Given the description of an element on the screen output the (x, y) to click on. 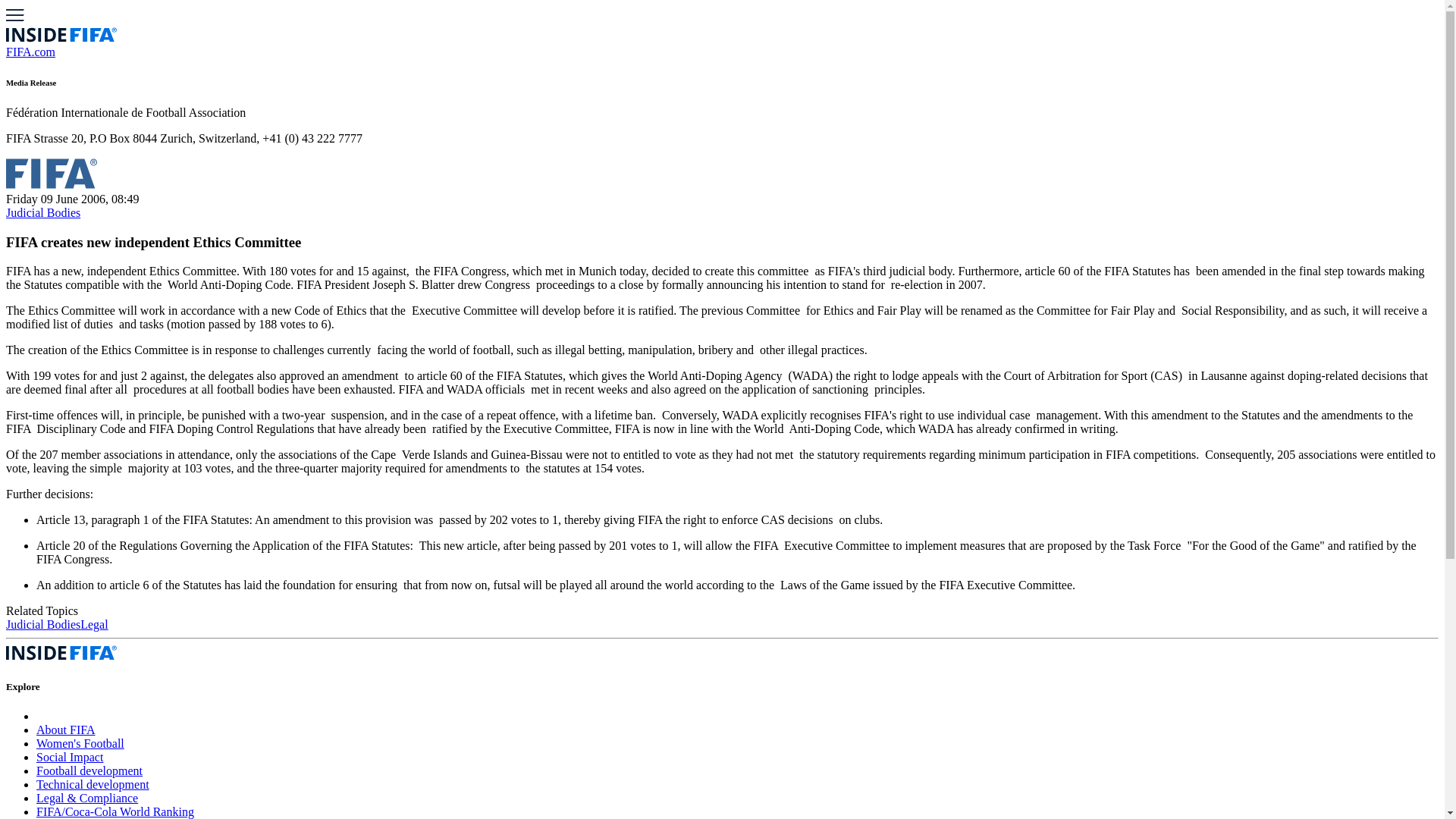
Football development (89, 770)
Judicial Bodies (42, 212)
Women's Football (79, 743)
About FIFA (66, 729)
Technical development (92, 784)
Judicial Bodies (42, 624)
Social Impact (69, 757)
Legal (93, 624)
